Given the description of an element on the screen output the (x, y) to click on. 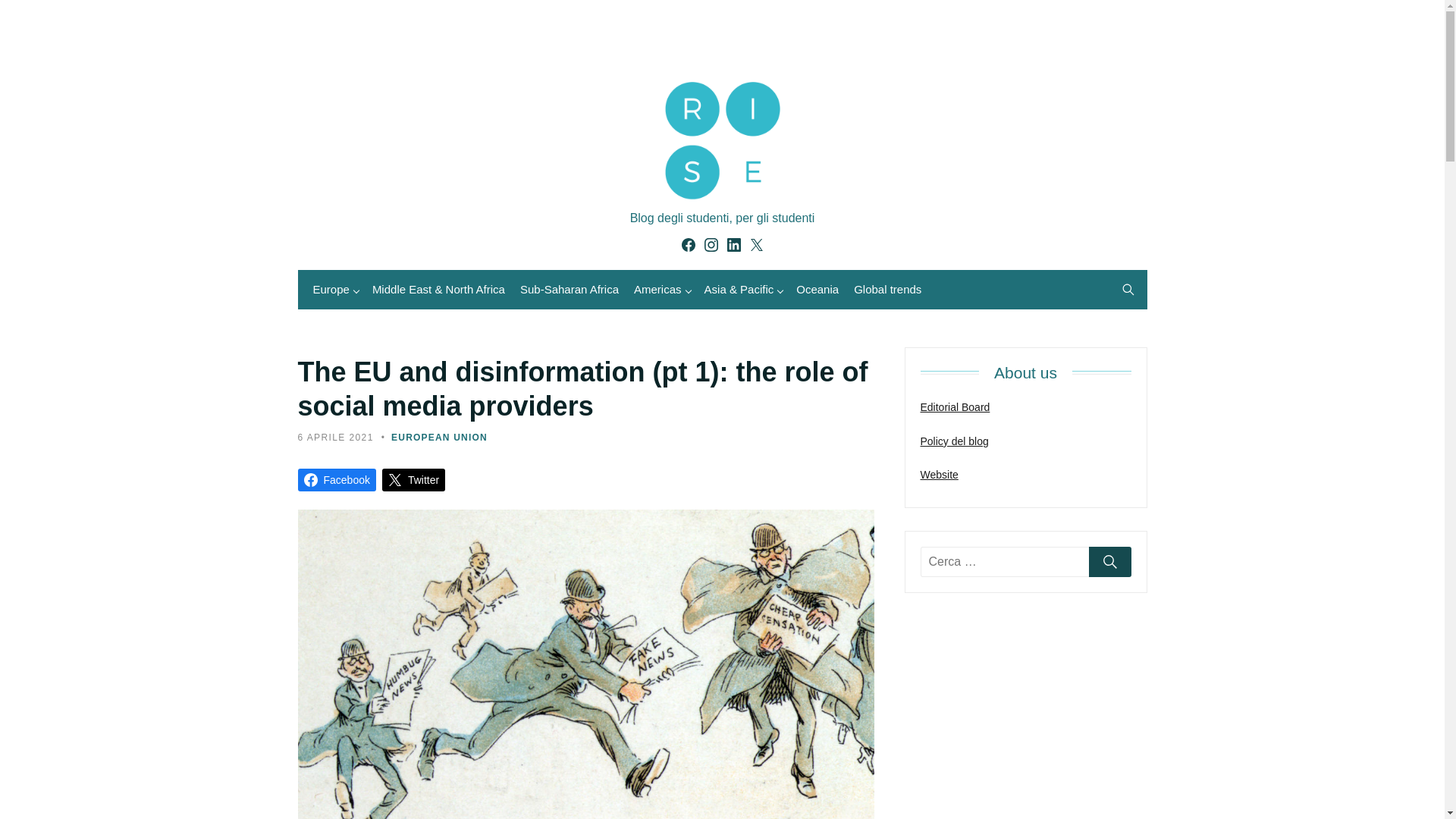
Europe (334, 289)
Facebook (687, 244)
Twitter (755, 244)
Instagram (710, 244)
Oceania (817, 289)
Global trends (886, 289)
Twitter (413, 479)
EUROPEAN UNION (439, 437)
Americas (661, 289)
LinkedIn (732, 244)
6 APRILE 2021 (334, 437)
Sub-Saharan Africa (569, 289)
Facebook (336, 479)
